Given the description of an element on the screen output the (x, y) to click on. 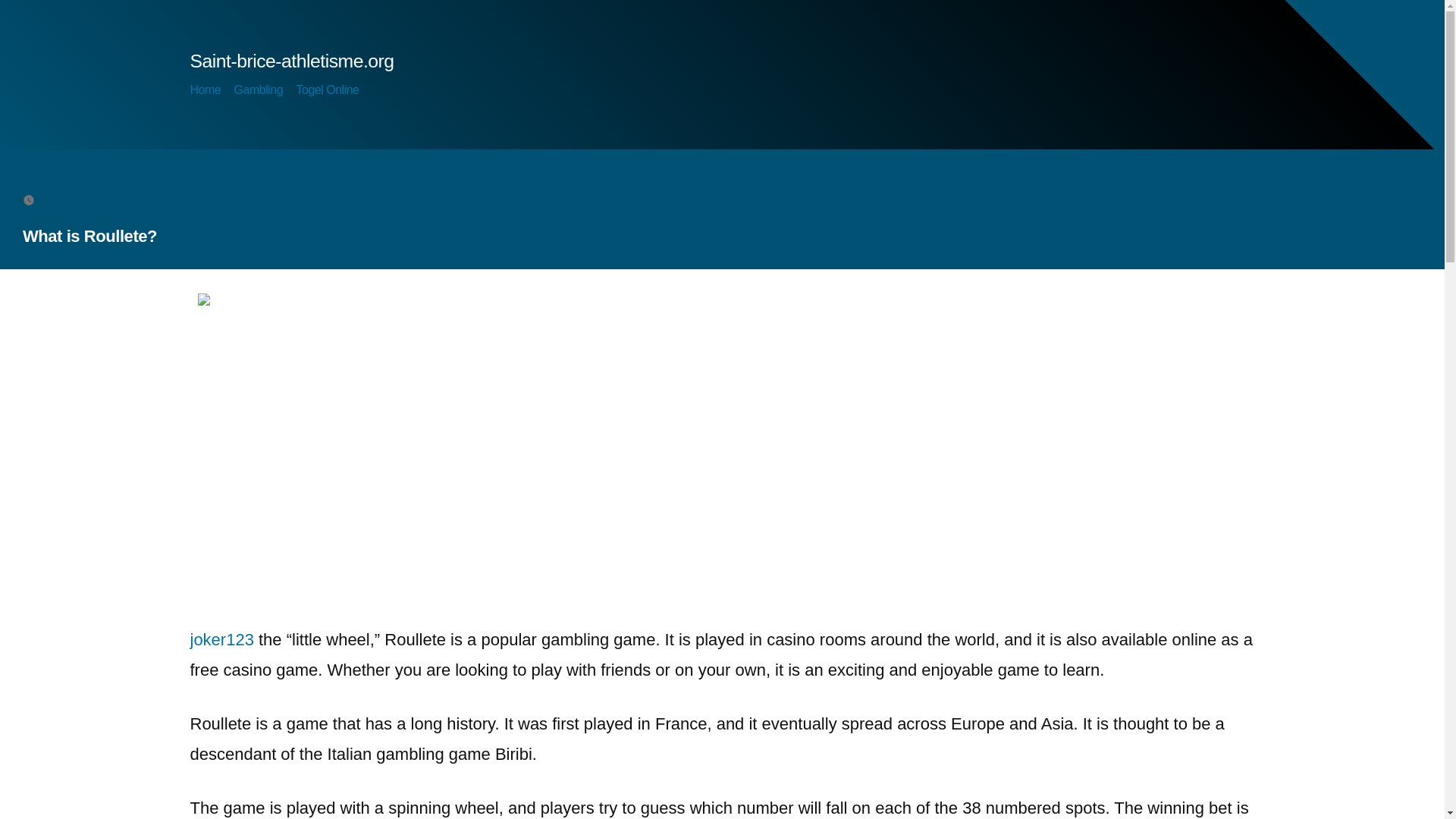
Saint-brice-athletisme.org (291, 60)
Togel Online (328, 89)
Home (205, 89)
joker123 (221, 639)
December 11, 2022 (92, 198)
Gambling (258, 89)
